Given the description of an element on the screen output the (x, y) to click on. 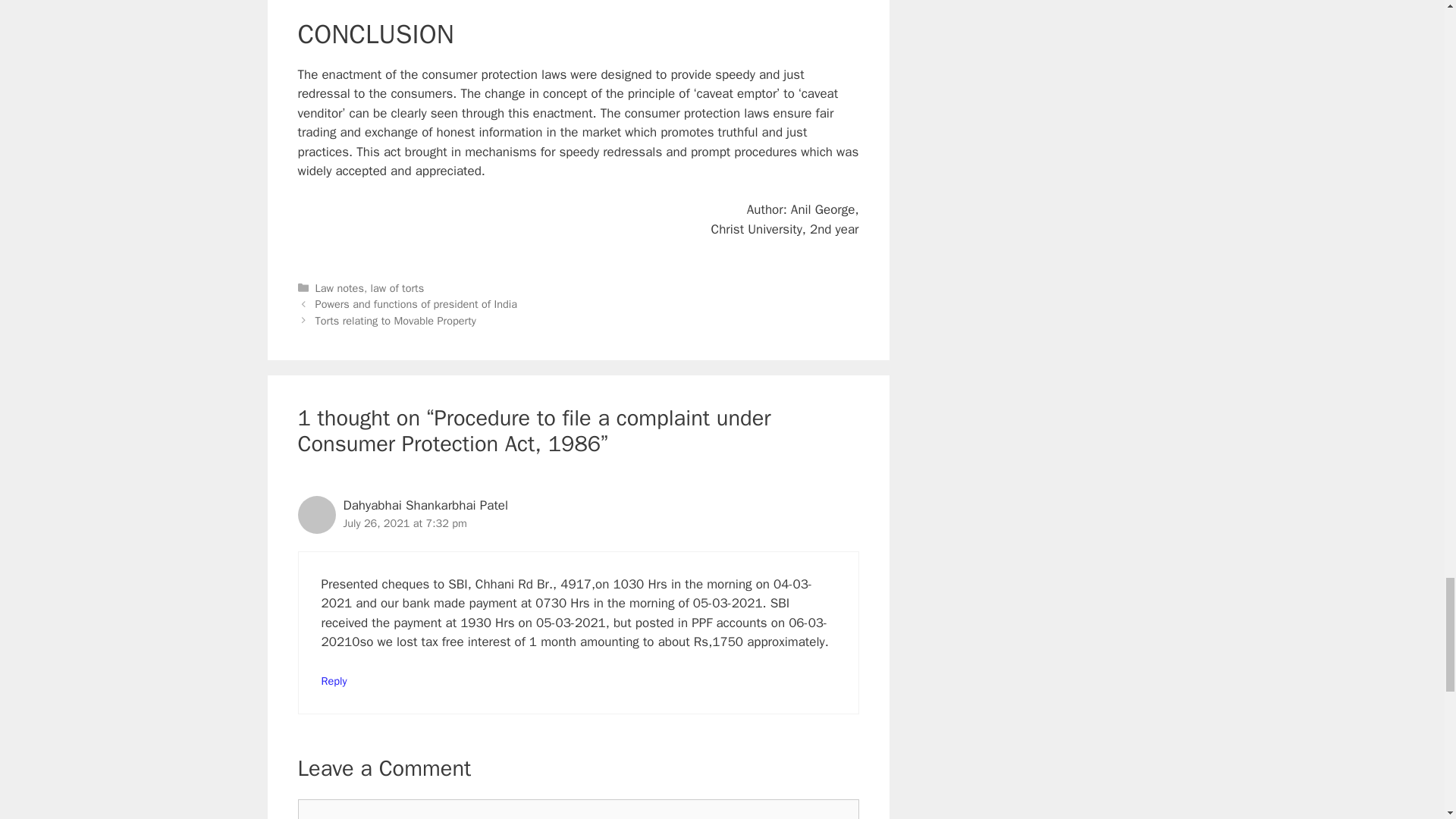
Reply (334, 680)
Torts relating to Movable Property  (397, 320)
July 26, 2021 at 7:32 pm (403, 522)
Powers and functions of president of India (415, 304)
law of torts (398, 287)
Law notes (339, 287)
